Given the description of an element on the screen output the (x, y) to click on. 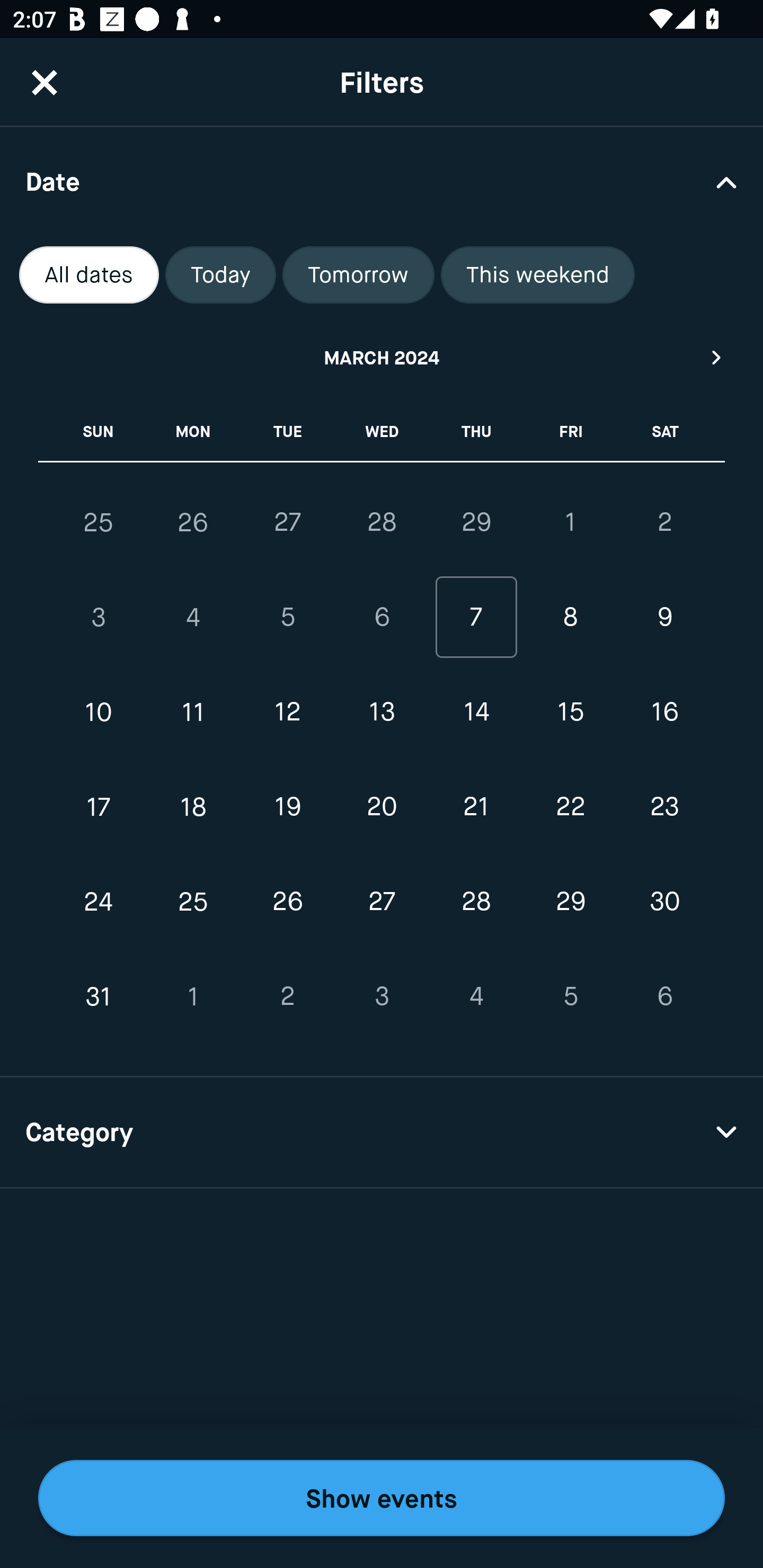
CloseButton (44, 82)
Date Drop Down Arrow (381, 181)
All dates (88, 274)
Today (220, 274)
Tomorrow (358, 274)
This weekend (537, 274)
Next (717, 357)
25 (98, 522)
26 (192, 522)
27 (287, 522)
28 (381, 522)
29 (475, 522)
1 (570, 522)
2 (664, 522)
3 (98, 617)
4 (192, 617)
5 (287, 617)
6 (381, 617)
7 (475, 617)
8 (570, 617)
9 (664, 617)
10 (98, 711)
11 (192, 711)
12 (287, 711)
13 (381, 711)
14 (475, 711)
15 (570, 711)
16 (664, 711)
17 (98, 806)
18 (192, 806)
19 (287, 806)
20 (381, 806)
21 (475, 806)
22 (570, 806)
23 (664, 806)
24 (98, 901)
25 (192, 901)
26 (287, 901)
27 (381, 901)
28 (475, 901)
29 (570, 901)
30 (664, 901)
31 (98, 996)
1 (192, 996)
2 (287, 996)
3 (381, 996)
4 (475, 996)
5 (570, 996)
6 (664, 996)
Category Drop Down Arrow (381, 1132)
Show events (381, 1497)
